Given the description of an element on the screen output the (x, y) to click on. 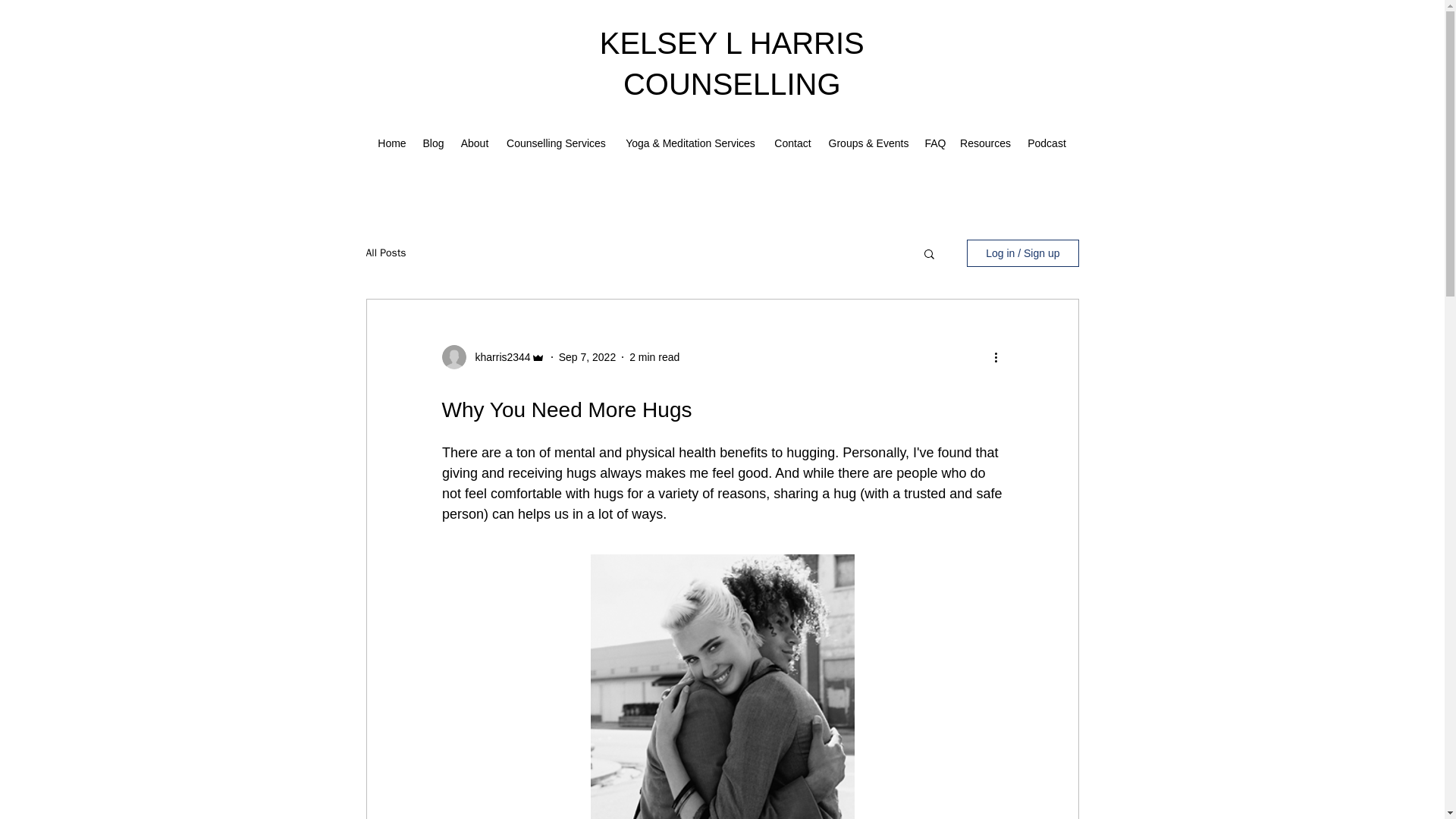
Resources (984, 142)
kharris2344 (497, 356)
Sep 7, 2022 (587, 356)
2 min read (653, 356)
Home (391, 142)
Podcast (1045, 142)
About (473, 142)
Counselling Services (555, 142)
Contact (792, 142)
KELSEY L HARRIS COUNSELLING (731, 63)
Blog (432, 142)
FAQ (934, 142)
All Posts (385, 253)
